Given the description of an element on the screen output the (x, y) to click on. 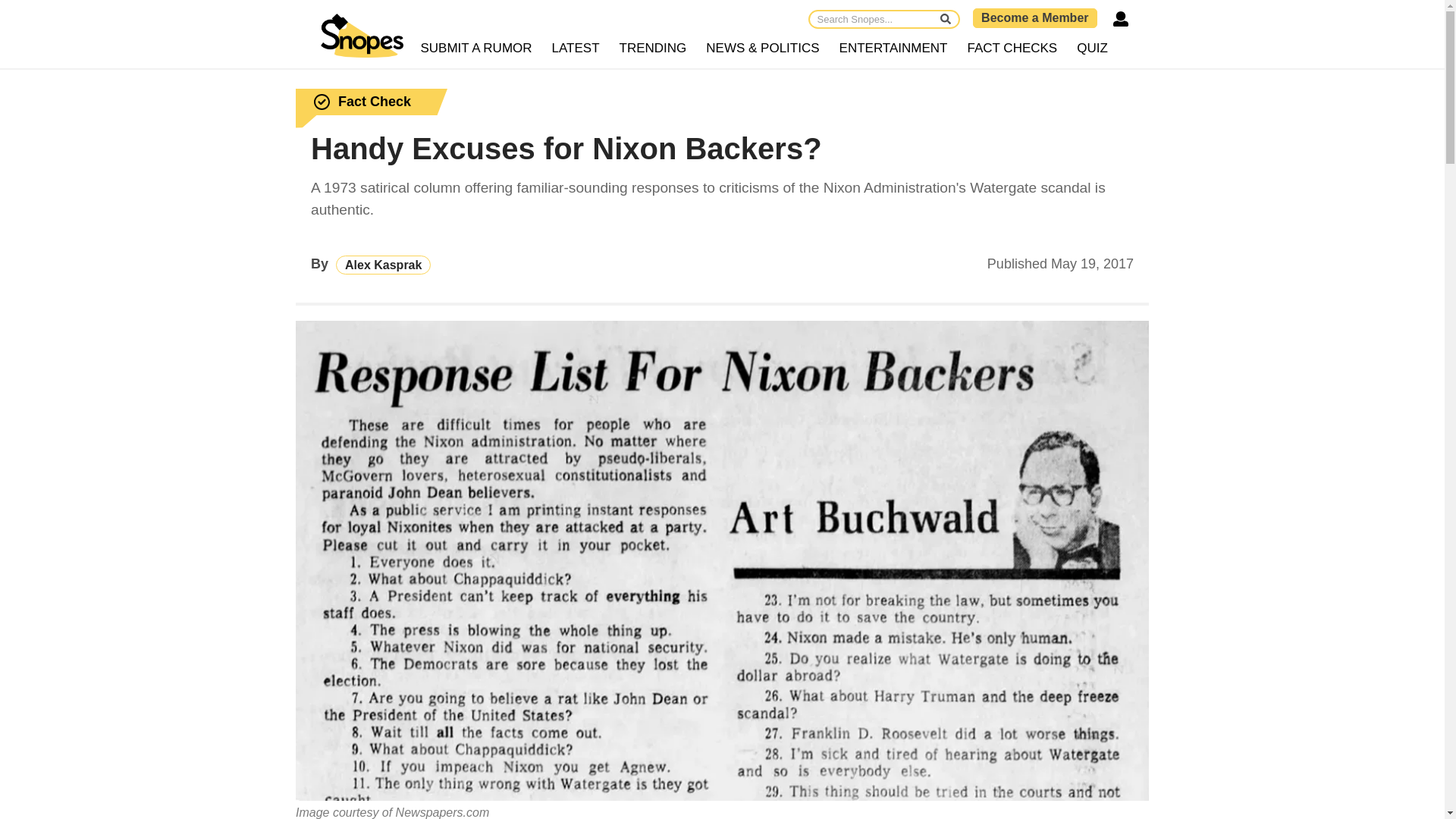
TRENDING (653, 47)
QUIZ (1092, 47)
FACT CHECKS (1011, 47)
Become a Member (1034, 17)
SUBMIT A RUMOR (475, 47)
LATEST (576, 47)
ENTERTAINMENT (893, 47)
Alex Kasprak (383, 264)
